Given the description of an element on the screen output the (x, y) to click on. 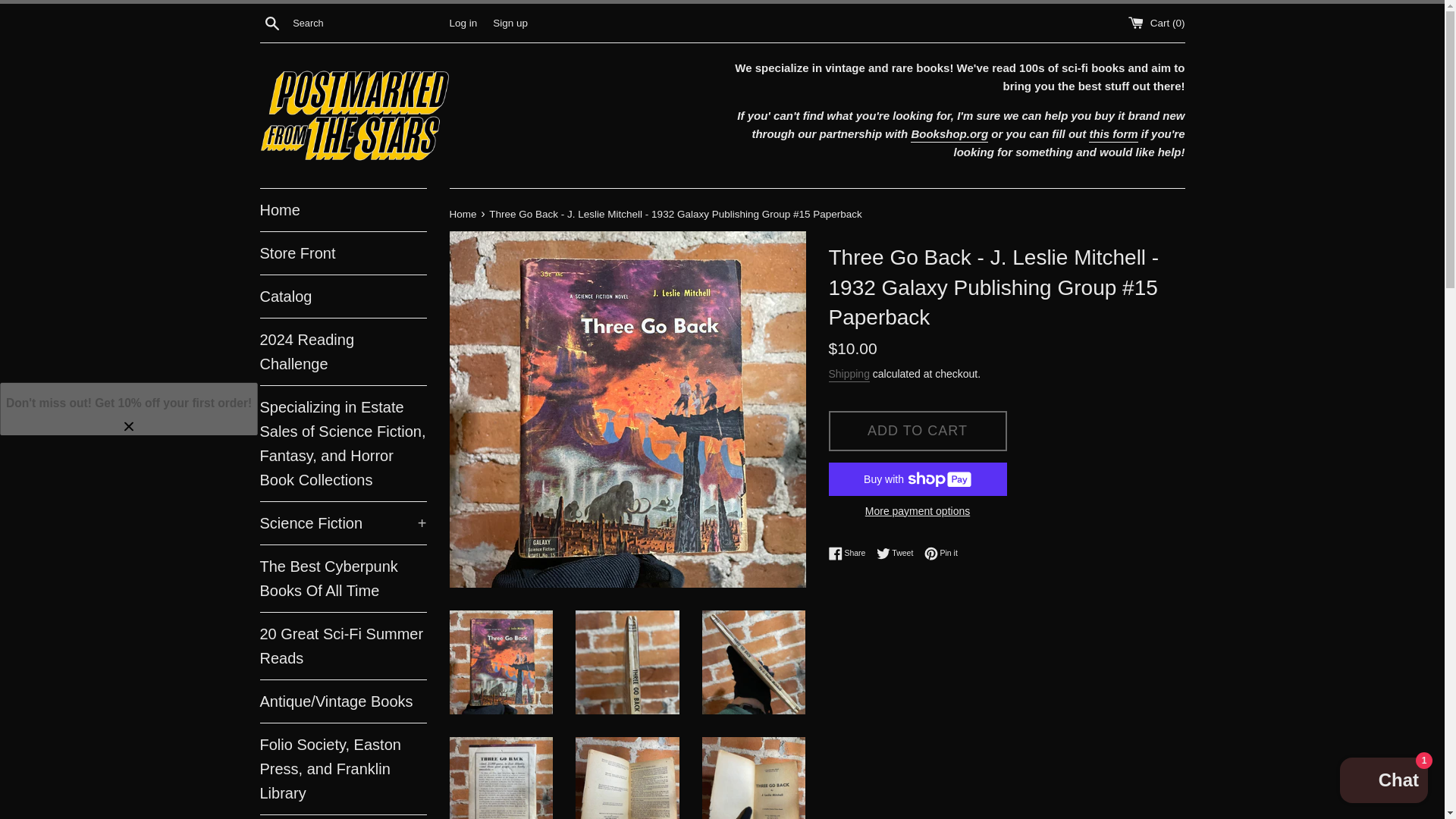
Tweet on Twitter (898, 553)
20 Great Sci-Fi Summer Reads (342, 645)
Bookshop.org (949, 134)
Home (342, 209)
Store Front (342, 252)
Pin on Pinterest (941, 553)
What We've Read This Year! (342, 816)
Catalog (342, 296)
Share on Facebook (850, 553)
Shopify online store chat (1383, 781)
Search (271, 21)
this form (1113, 134)
Log in (462, 21)
The Best Cyberpunk Books Of All Time (342, 578)
